Given the description of an element on the screen output the (x, y) to click on. 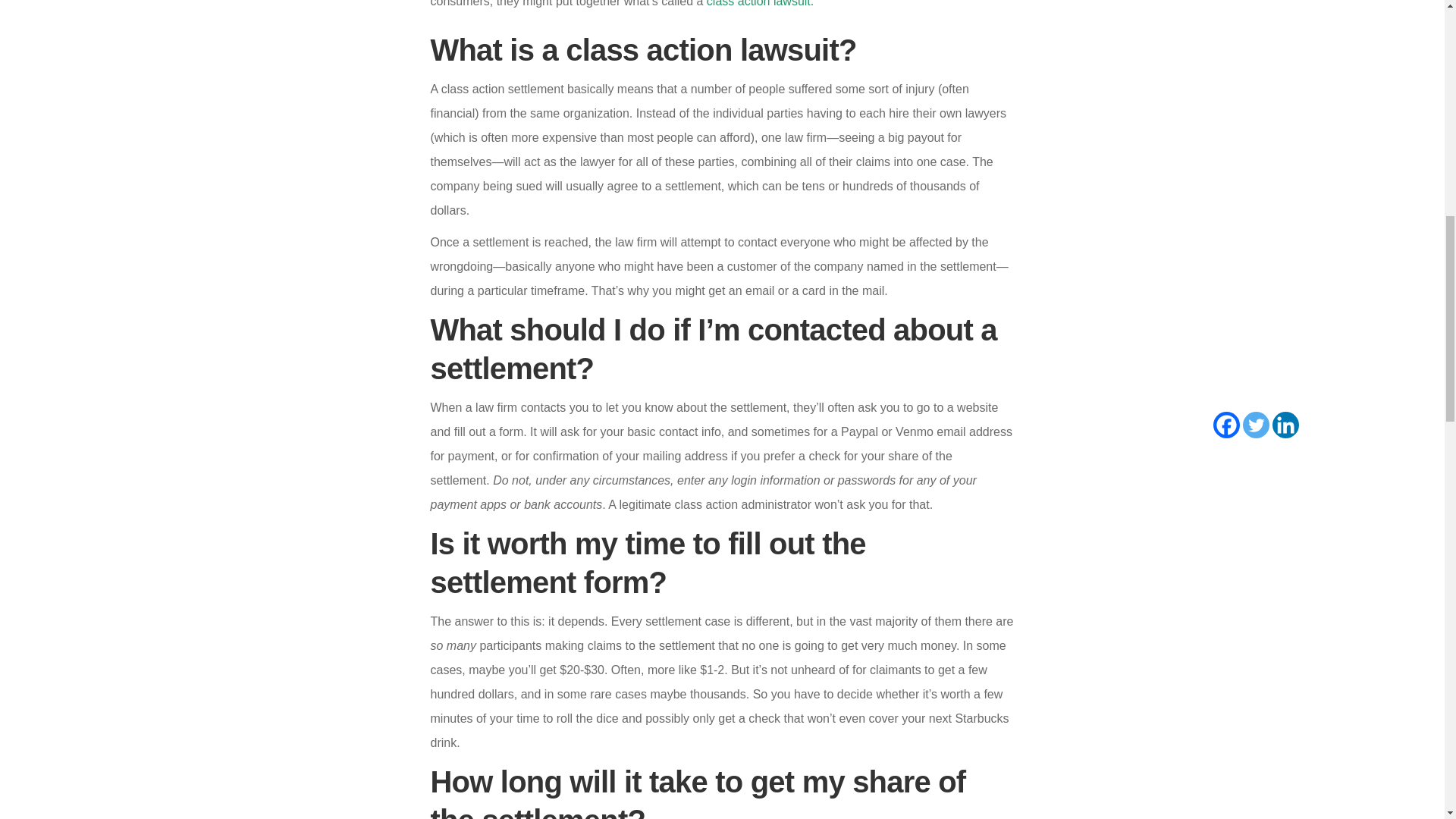
class action lawsuit (758, 3)
